Given the description of an element on the screen output the (x, y) to click on. 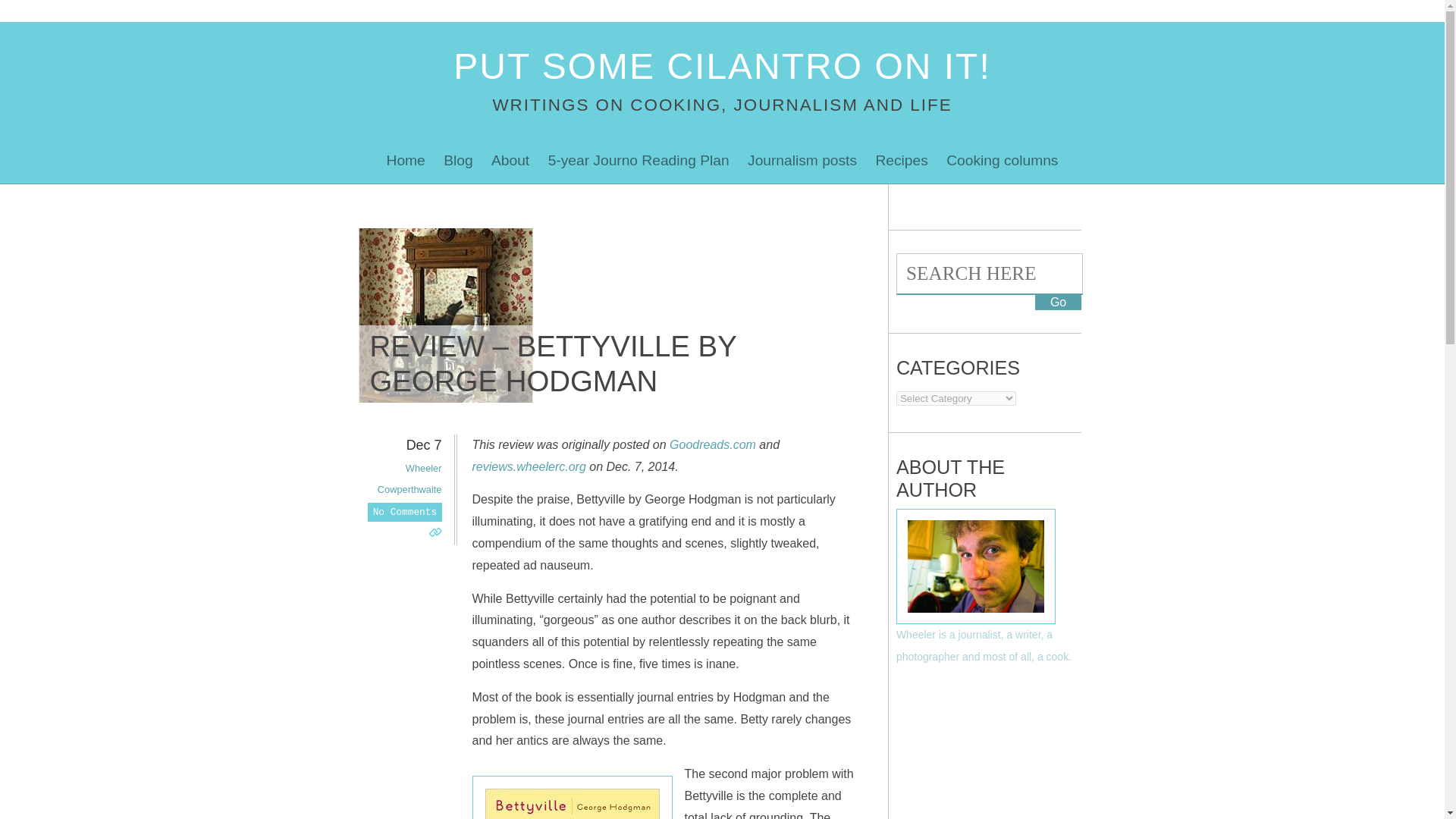
About (510, 160)
Blog (457, 160)
5-year Journo Reading Plan (638, 160)
Goodreads.com (712, 444)
Wheeler Cowperthwaite (409, 479)
Posts by Wheeler Cowperthwaite (409, 479)
Put some cilantro on it! (721, 65)
No Comments (404, 511)
Cooking columns (1002, 160)
Go (1058, 302)
reviews.wheelerc.org (528, 466)
Journalism posts (801, 160)
Home (405, 160)
Go (1058, 302)
Recipes (900, 160)
